Given the description of an element on the screen output the (x, y) to click on. 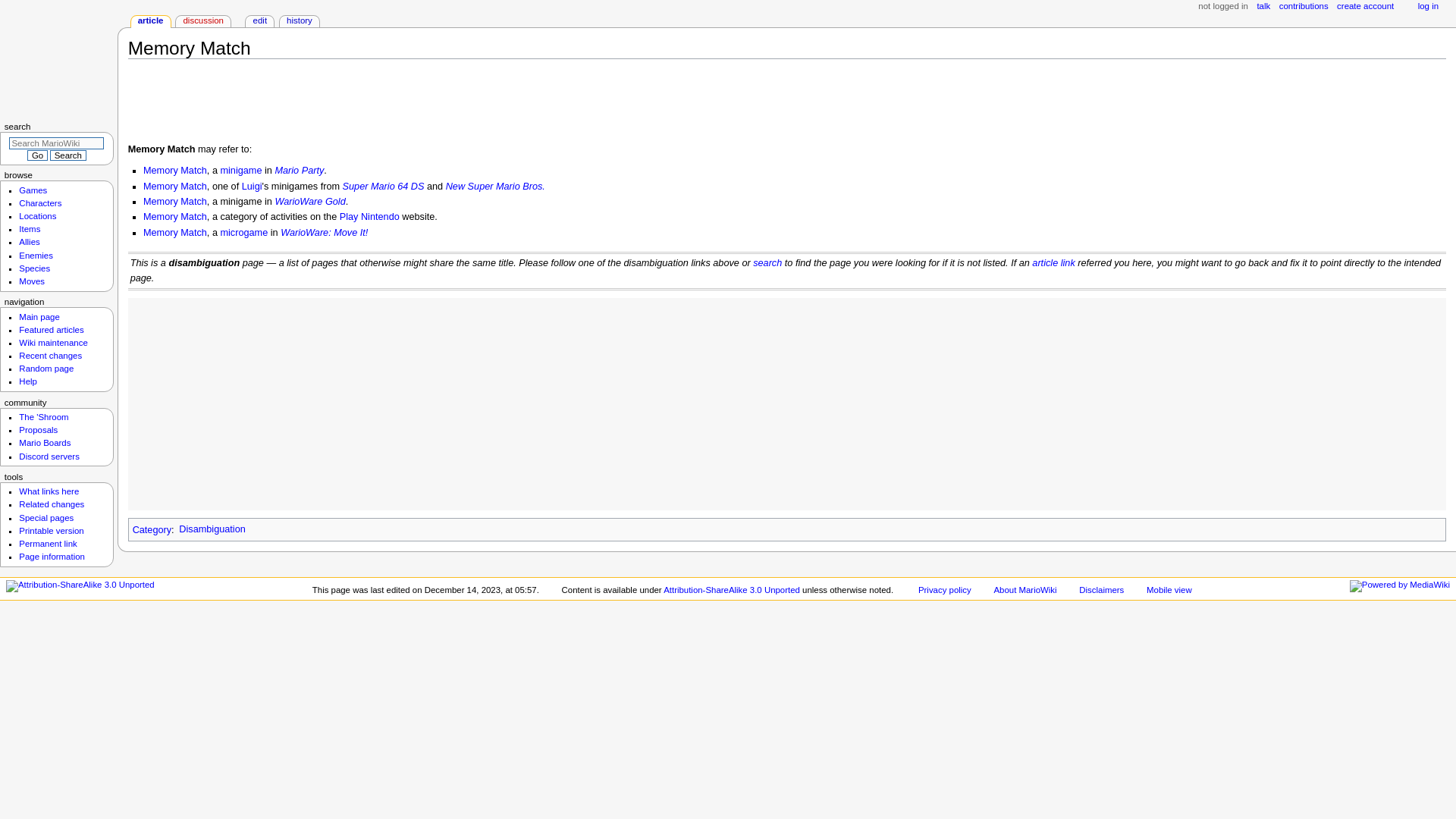
Memory Match (174, 216)
Locations (37, 215)
Luigi (251, 185)
Search (67, 154)
microgame (243, 232)
Mario Party (299, 170)
talk (1262, 6)
Microgame (243, 232)
create account (1364, 6)
Games (32, 189)
